Given the description of an element on the screen output the (x, y) to click on. 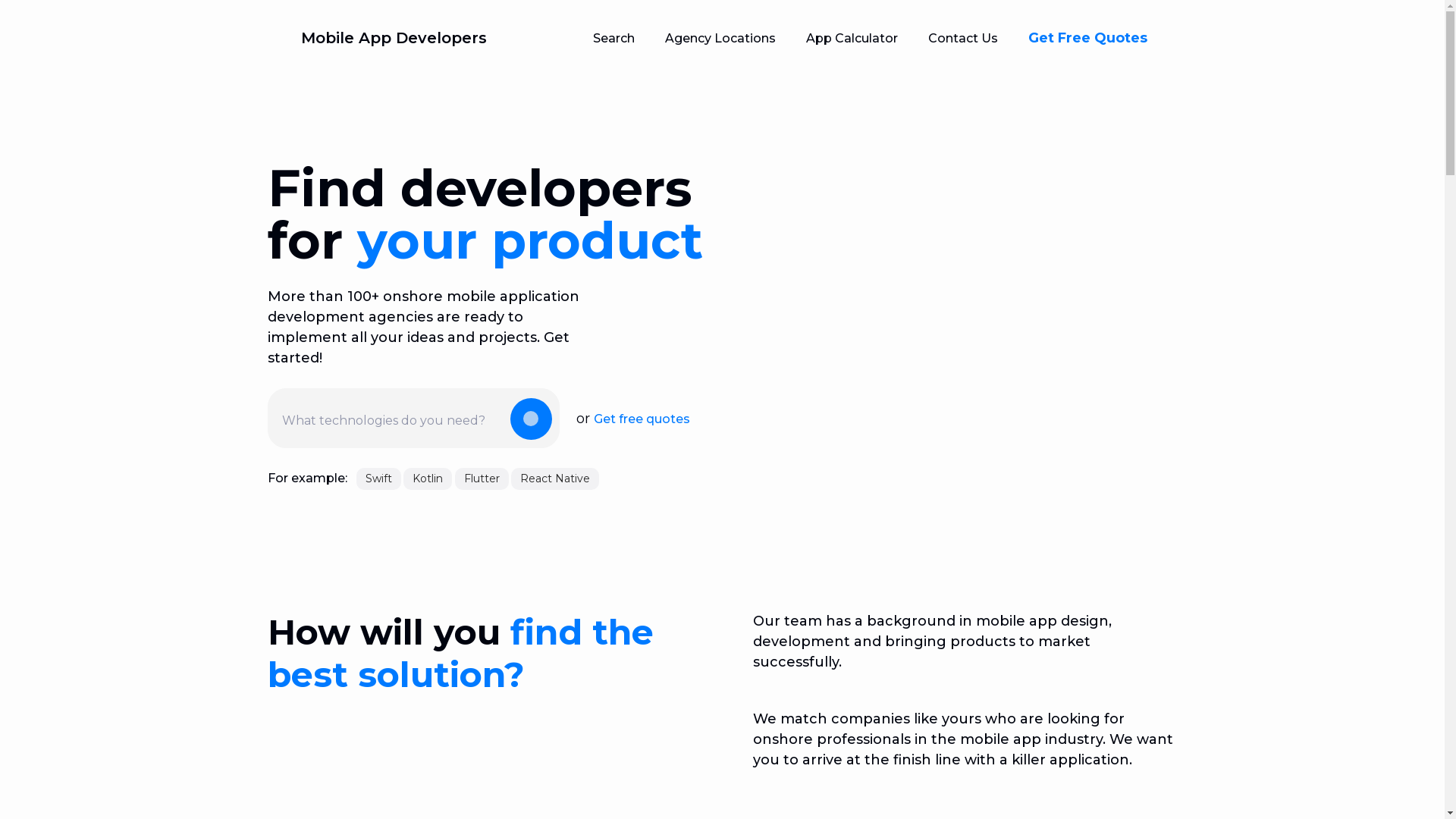
App Calculator Element type: text (851, 37)
Get Free Quotes Element type: text (1087, 37)
Search Element type: text (613, 37)
Mobile App Developers Element type: text (376, 37)
Get Free Quotes Element type: text (1087, 38)
Swift Element type: text (378, 478)
Agency Locations Element type: text (719, 38)
Flutter Element type: text (481, 478)
Get free quotes Element type: text (641, 418)
App Calculator Element type: text (851, 38)
React Native Element type: text (555, 478)
Contact Us Element type: text (962, 38)
Agency Locations Element type: text (719, 37)
Contact Us Element type: text (962, 37)
Search Element type: text (613, 38)
Kotlin Element type: text (427, 478)
